Given the description of an element on the screen output the (x, y) to click on. 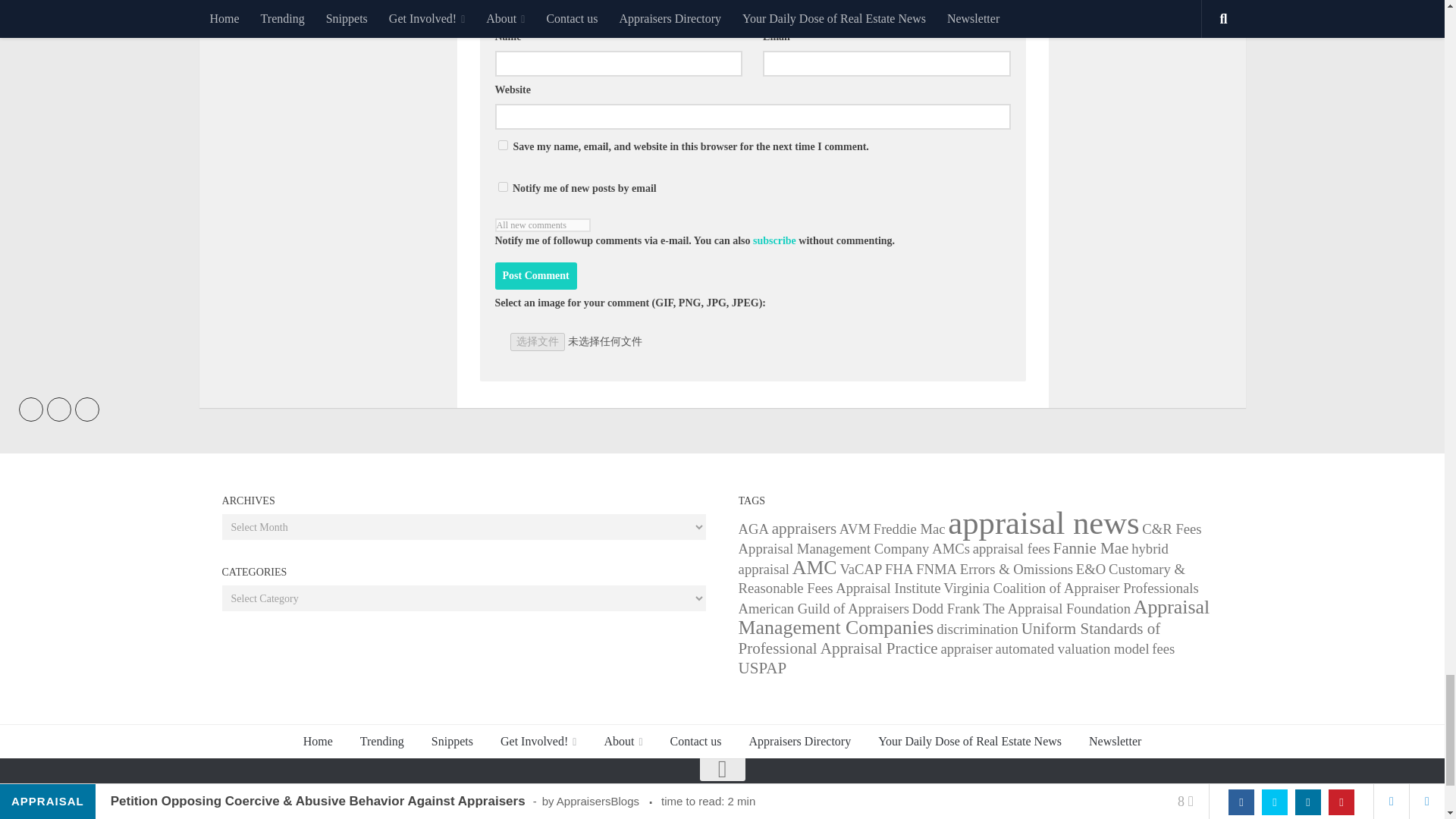
1 (501, 186)
yes (501, 144)
Post Comment (535, 275)
